Given the description of an element on the screen output the (x, y) to click on. 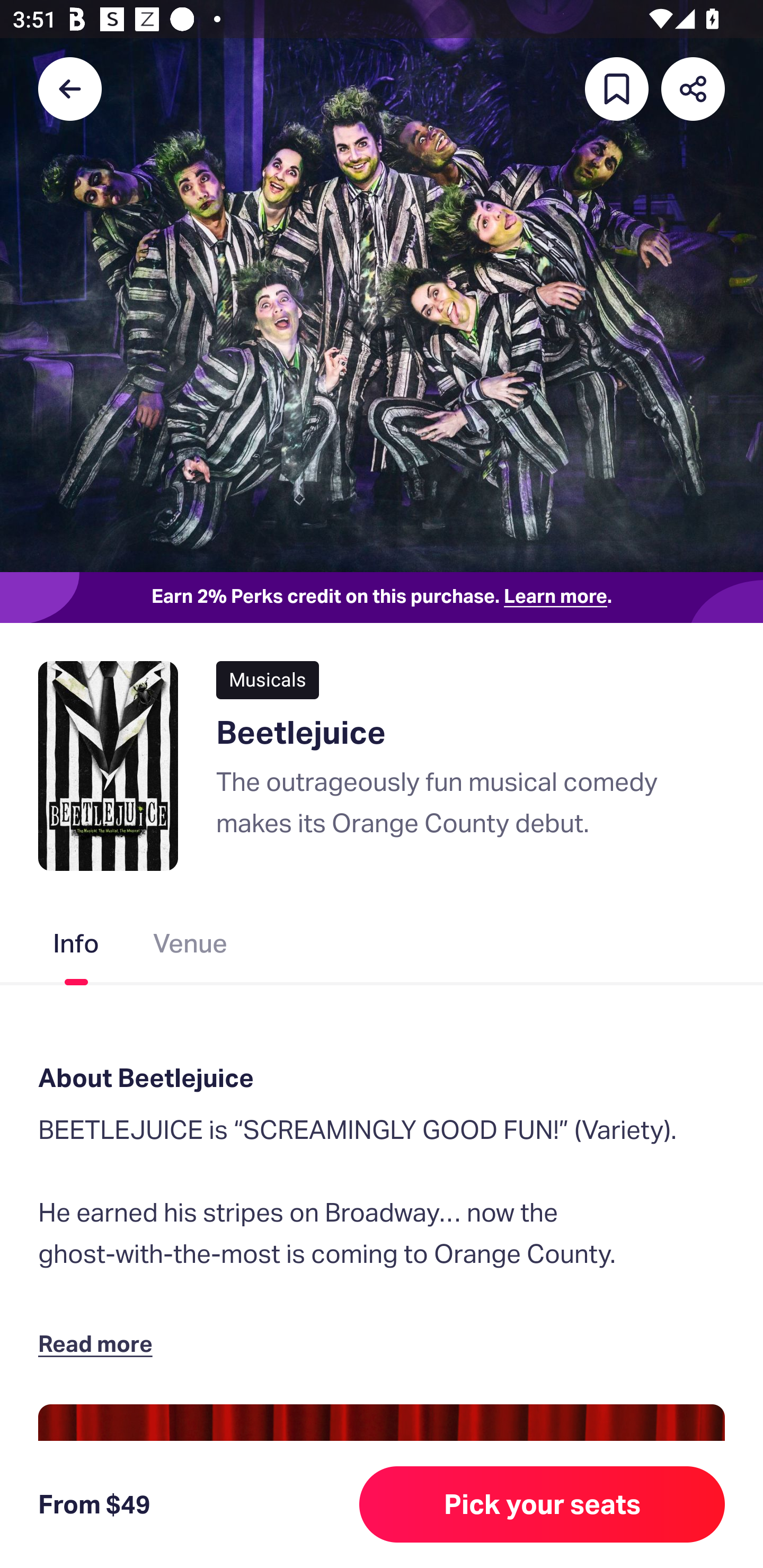
Earn 2% Perks credit on this purchase. Learn more. (381, 597)
Venue (190, 946)
About Beetlejuice (381, 1077)
Read more (99, 1342)
Pick your seats (541, 1504)
